Given the description of an element on the screen output the (x, y) to click on. 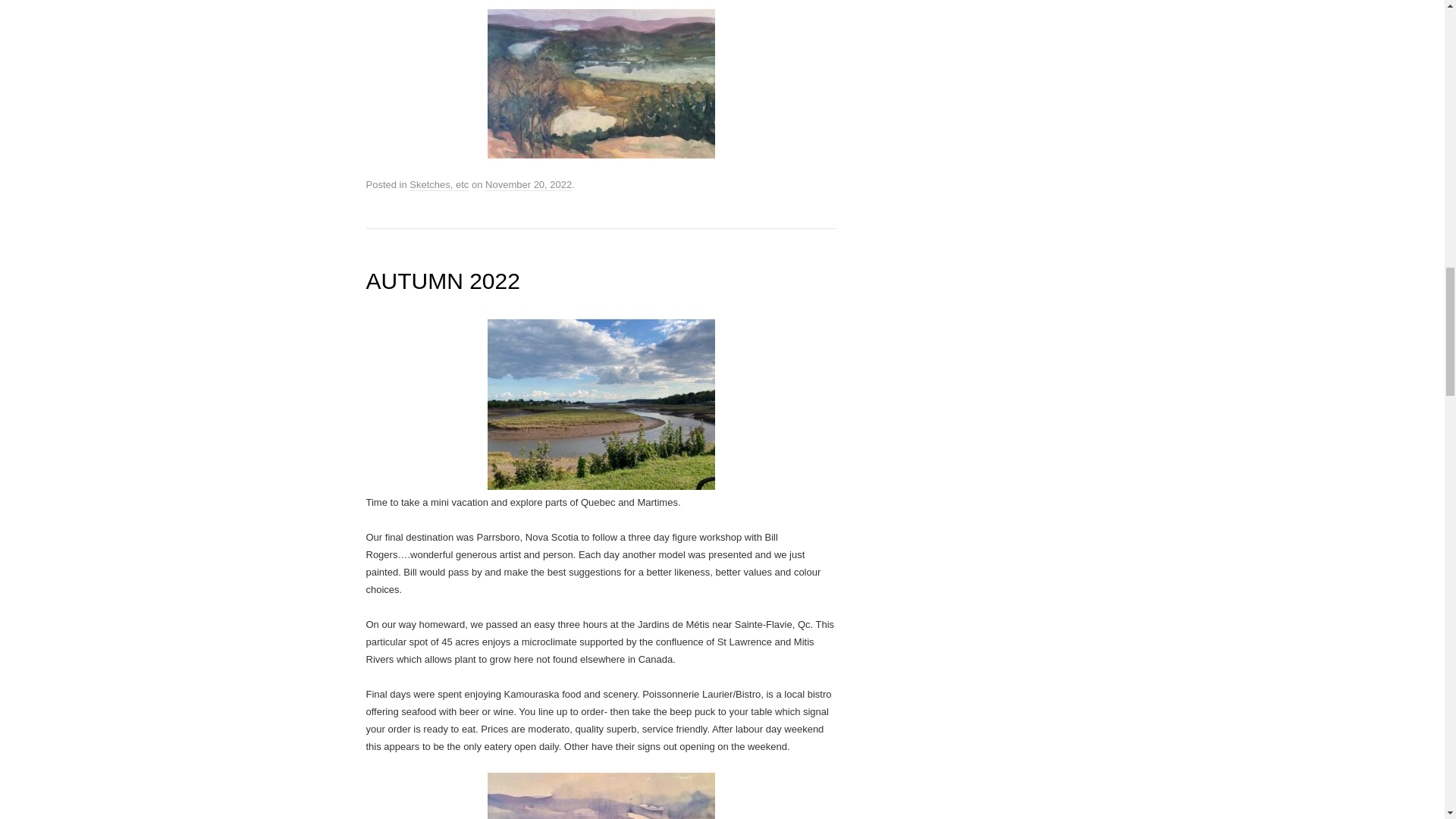
November 20, 2022 (528, 184)
9:40 am (528, 184)
Sketches, etc (438, 184)
AUTUMN 2022 (442, 280)
